Given the description of an element on the screen output the (x, y) to click on. 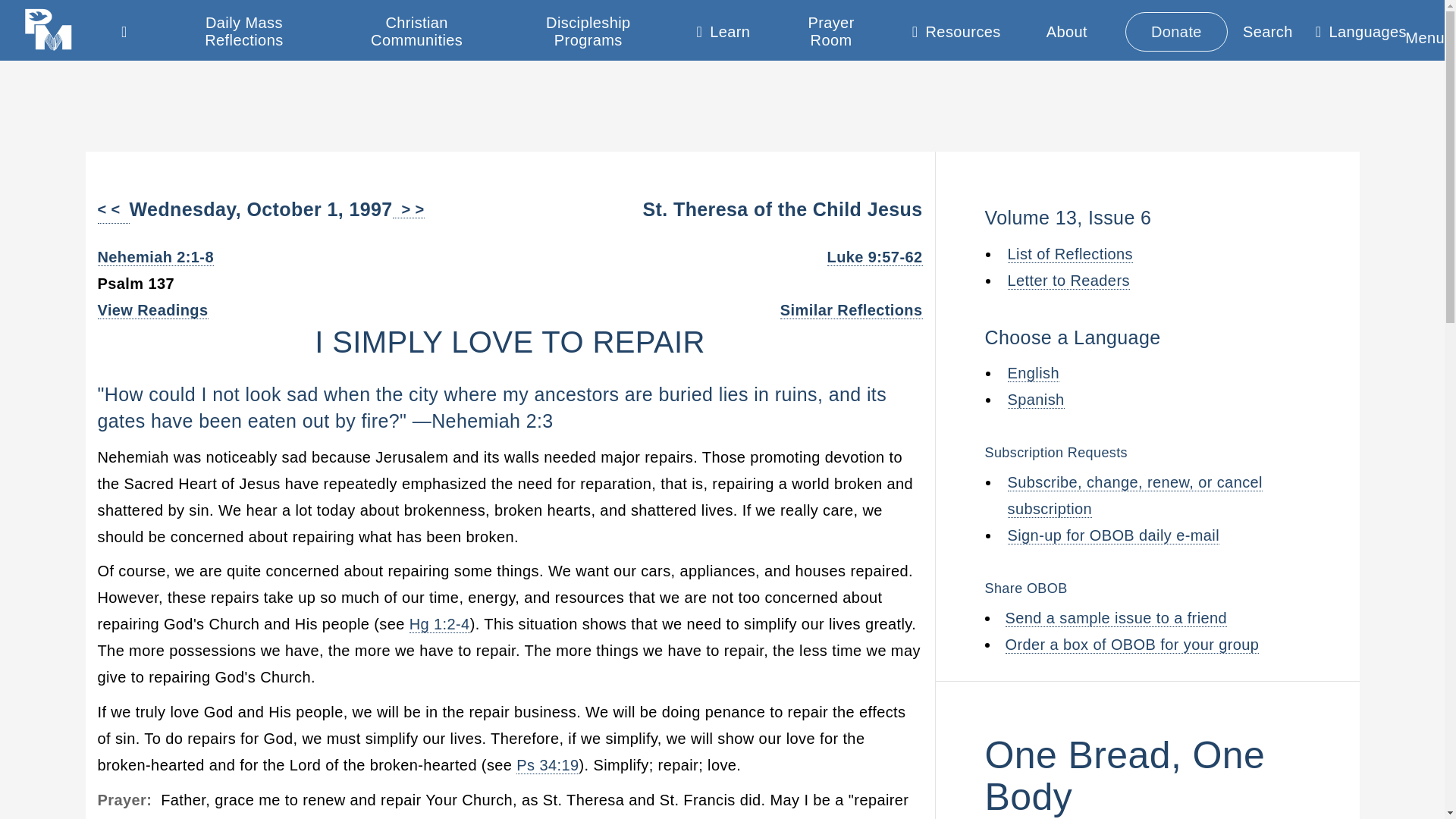
View Readings (152, 310)
Discipleship Programs (588, 31)
Sign-up for OBOB daily e-mail (1113, 535)
Spanish (1035, 399)
Is 58:12 (504, 818)
Nehemiah 2:1-8 (154, 257)
Similar Reflections (851, 310)
Ps 34:19 (547, 764)
Resources (956, 34)
Letter to Readers (1068, 280)
List of Reflections (1069, 253)
Search (1267, 31)
Daily Mass Reflections (244, 31)
Christian Communities (416, 31)
Learn (723, 34)
